Given the description of an element on the screen output the (x, y) to click on. 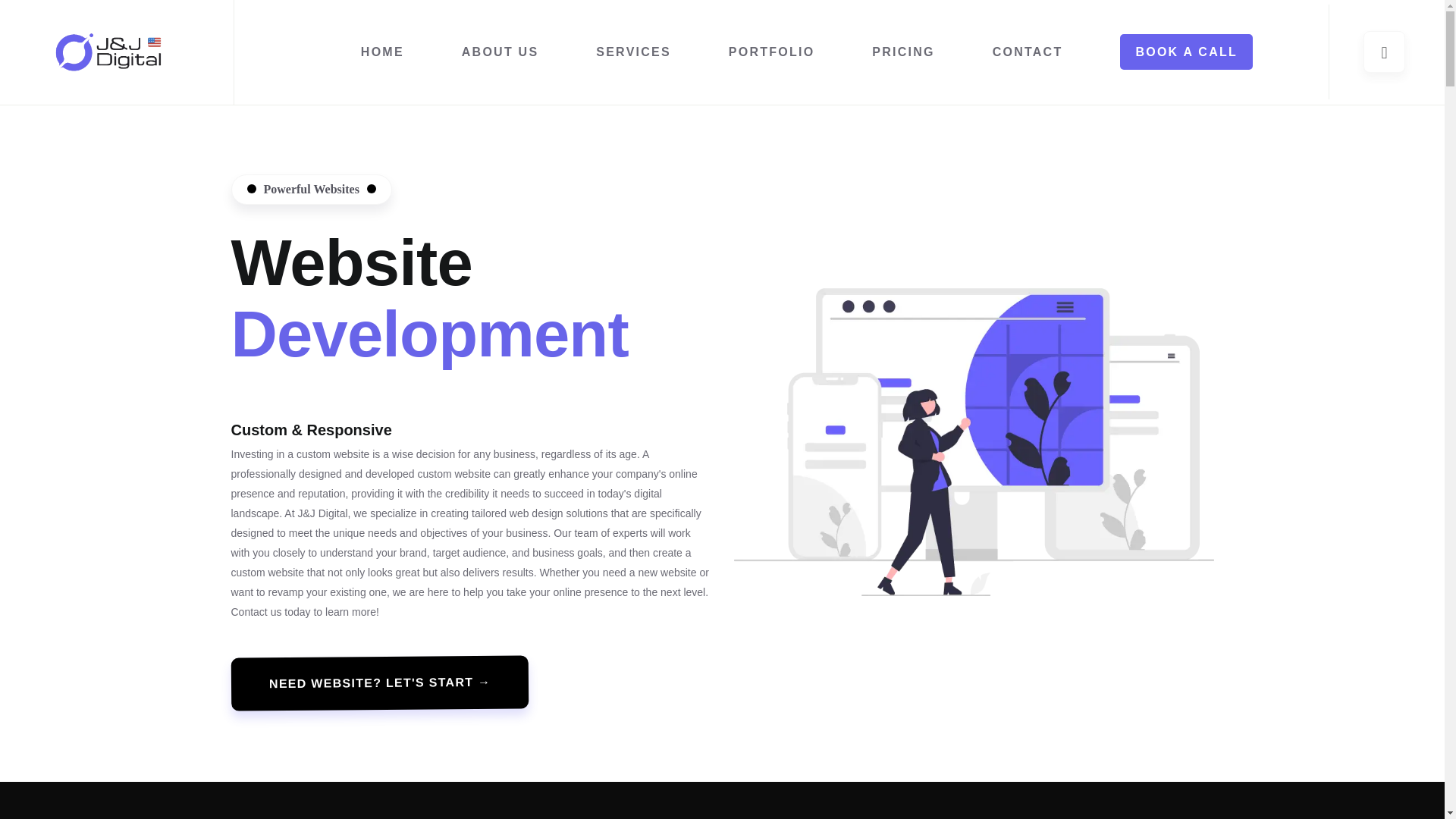
PORTFOLIO (772, 51)
BOOK A CALL (1185, 51)
Book A Call (1185, 51)
Portfolio (772, 51)
